Given the description of an element on the screen output the (x, y) to click on. 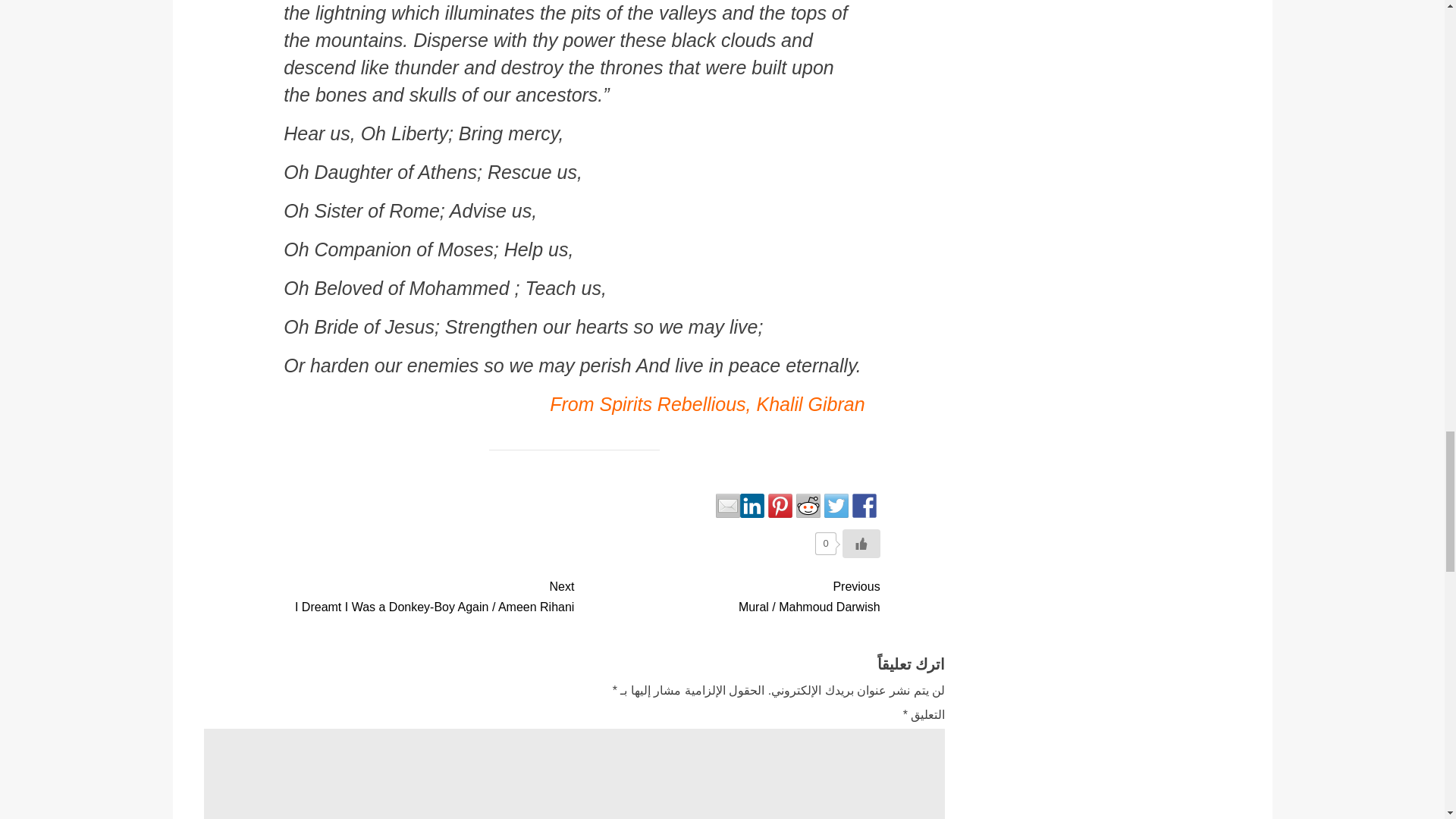
Share on Reddit (808, 505)
Share on Twitter (836, 505)
Pin it with Pinterest (780, 505)
Share on Facebook (863, 505)
Share on Linkedin (751, 505)
Share by email (727, 505)
